Given the description of an element on the screen output the (x, y) to click on. 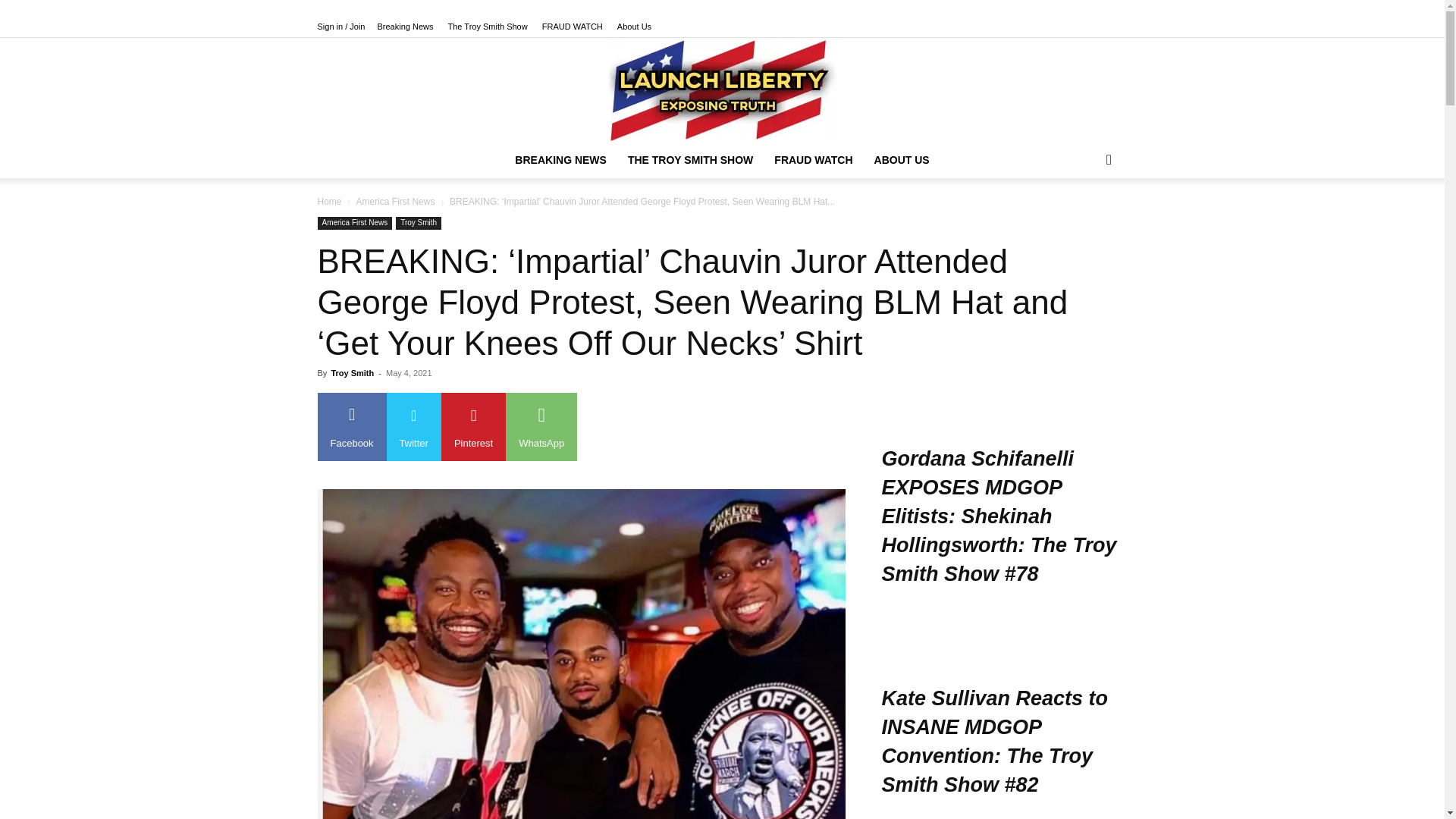
Pinterest (473, 427)
FRAUD WATCH (812, 159)
Troy Smith (418, 223)
About Us (633, 26)
Facebook (351, 427)
Facebook (351, 427)
Troy Smith (352, 372)
WhatsApp (540, 427)
Breaking News (404, 26)
ABOUT US (901, 159)
Search (1085, 220)
The Troy Smith Show (487, 26)
America First News (354, 223)
View all posts in America First News (394, 201)
BREAKING NEWS (560, 159)
